Given the description of an element on the screen output the (x, y) to click on. 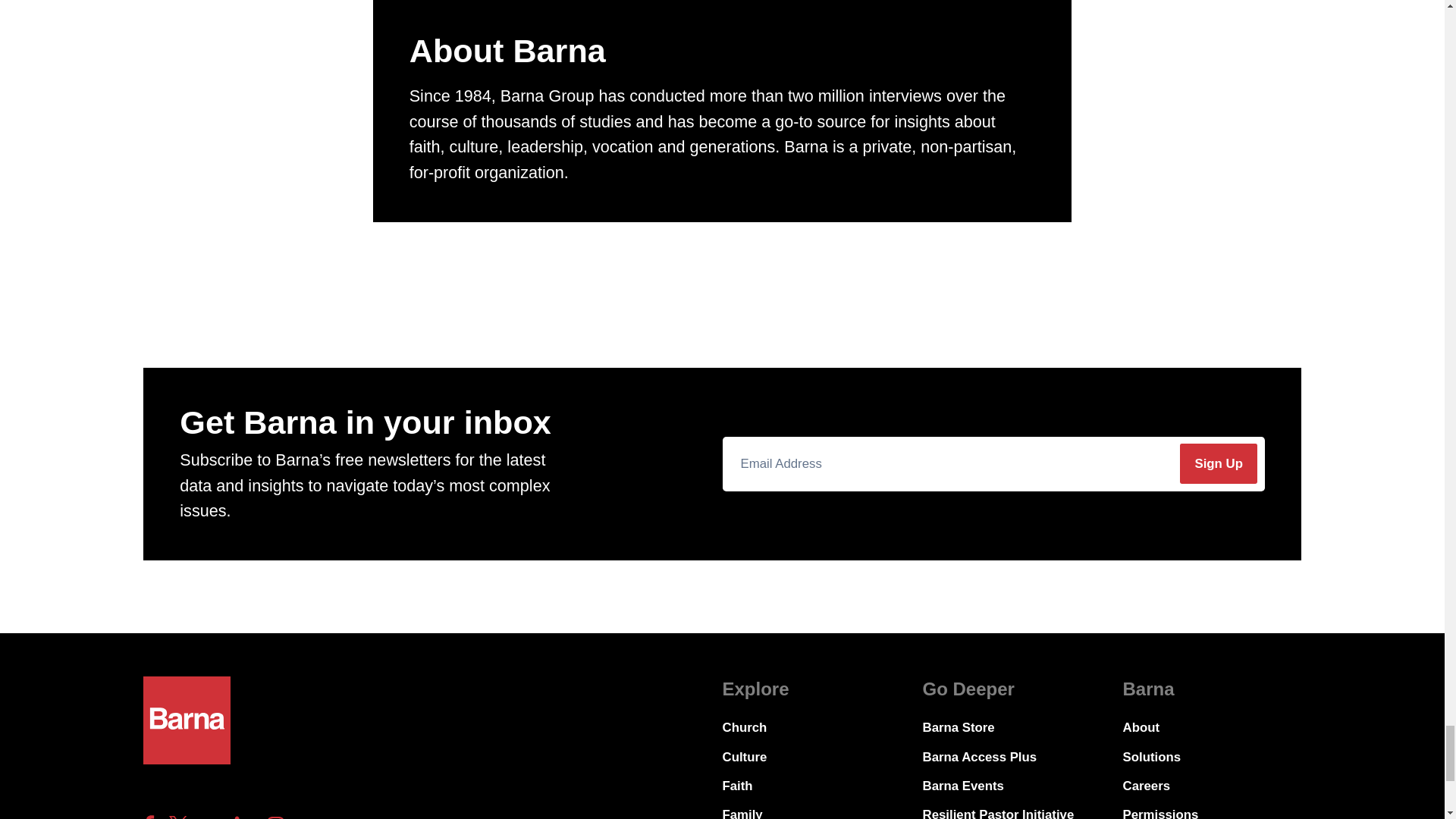
Sign Up (1218, 463)
